Given the description of an element on the screen output the (x, y) to click on. 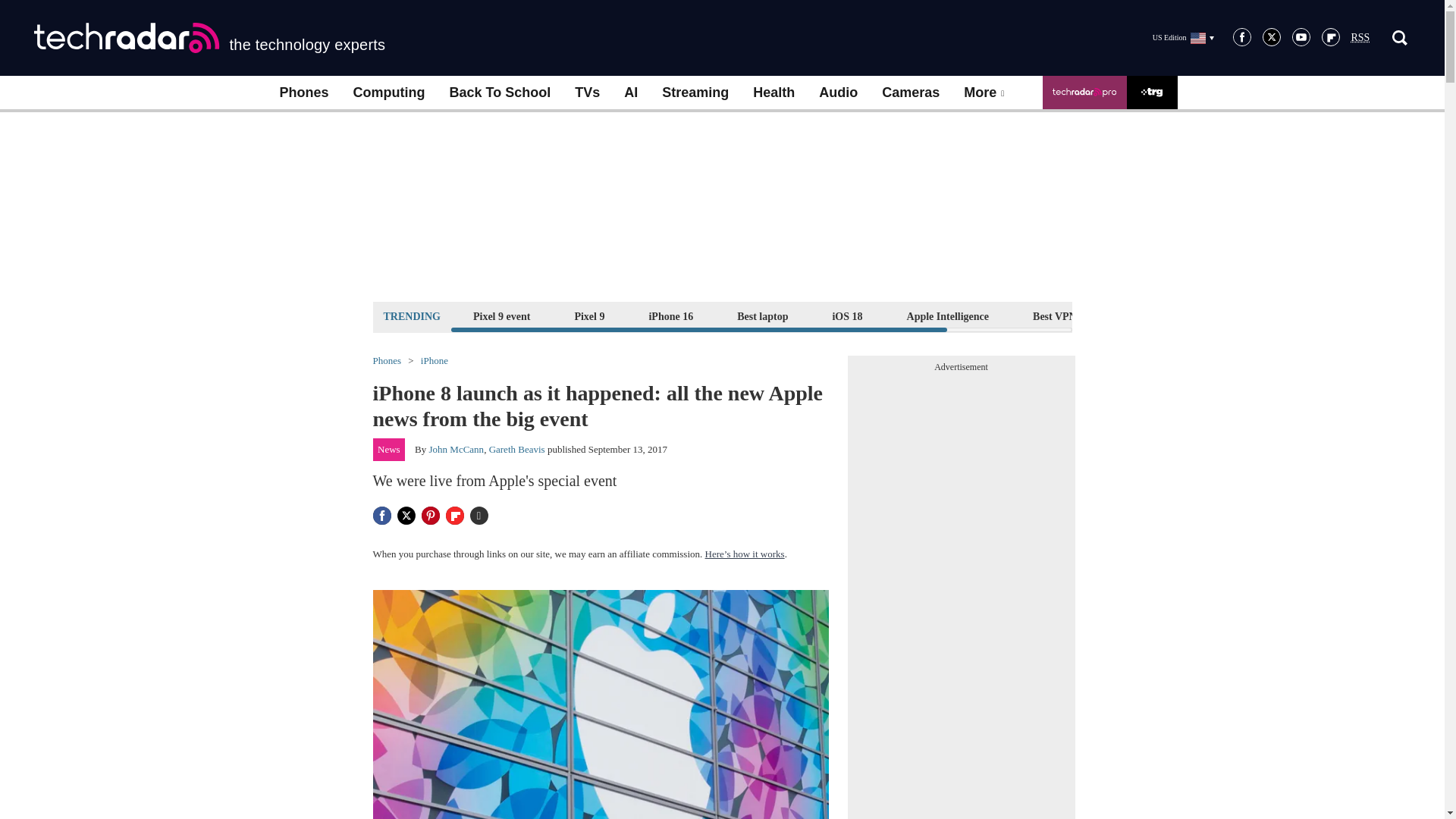
AI (630, 92)
Really Simple Syndication (1360, 37)
US Edition (1182, 37)
Cameras (910, 92)
Health (773, 92)
TVs (586, 92)
Streaming (695, 92)
Computing (389, 92)
Phones (303, 92)
the technology experts (209, 38)
